Given the description of an element on the screen output the (x, y) to click on. 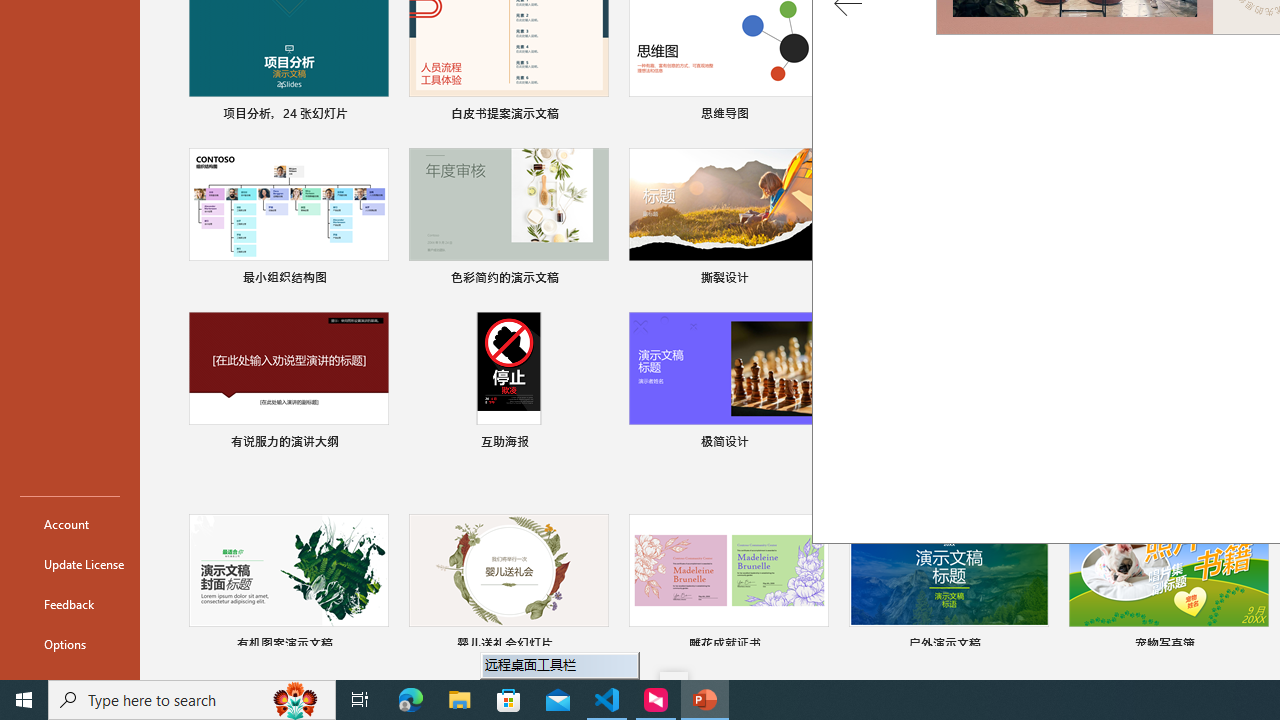
Options (69, 643)
